Given the description of an element on the screen output the (x, y) to click on. 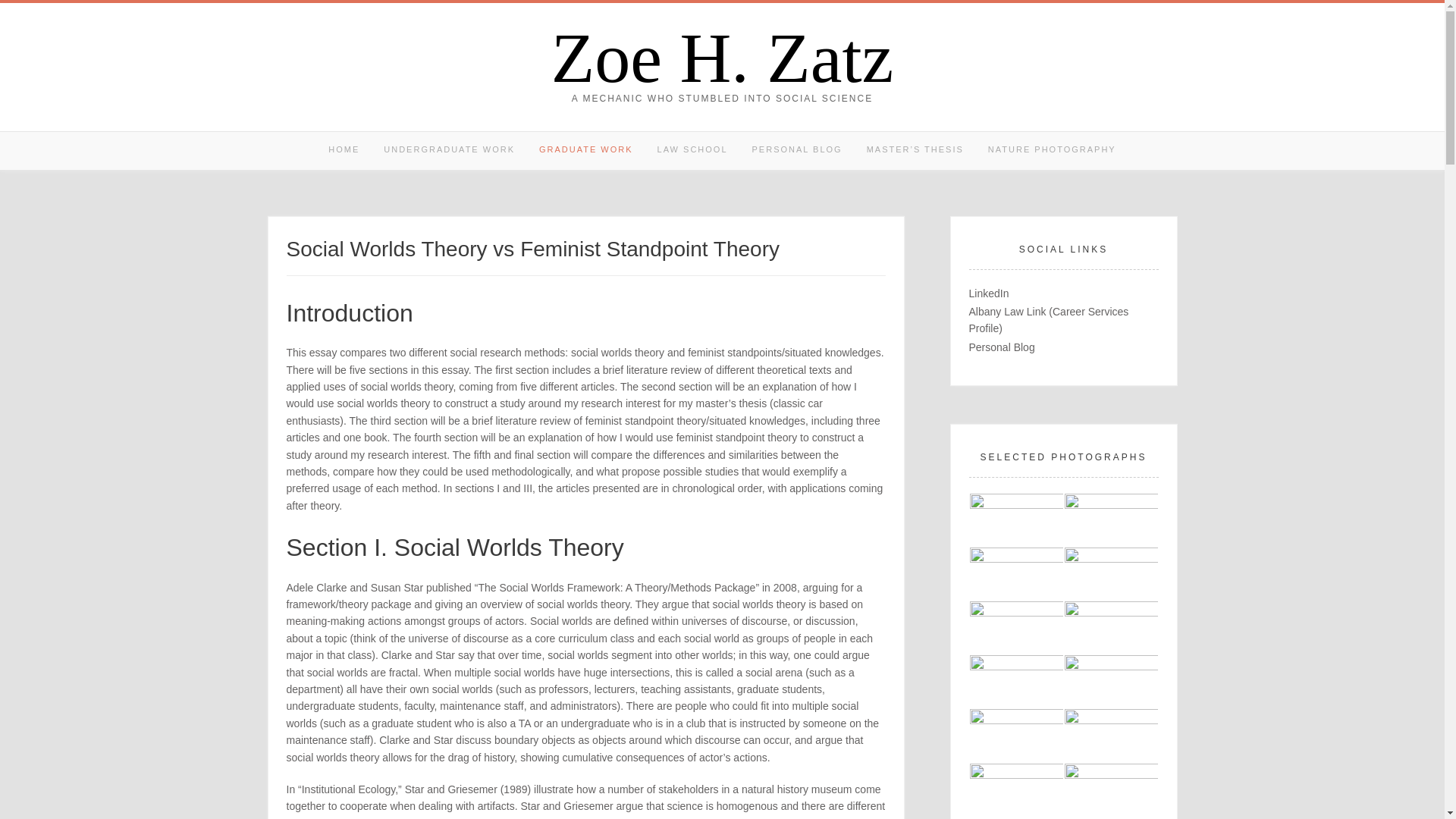
Zoe H. Zatz (722, 57)
HOME (343, 150)
Zoe H. Zatz (722, 57)
UNDERGRADUATE WORK (449, 150)
